Given the description of an element on the screen output the (x, y) to click on. 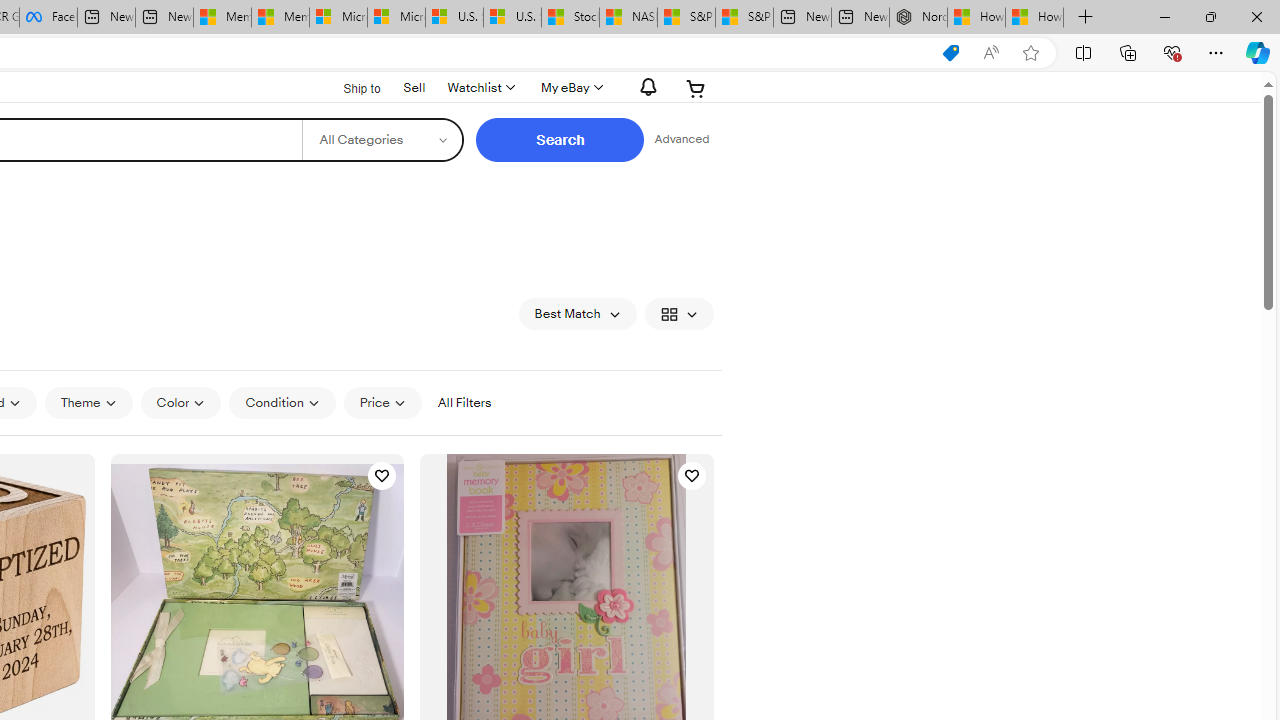
Your shopping cart (696, 88)
Advanced Search (681, 139)
Color (180, 403)
Ship to (349, 86)
All Filters (464, 402)
View: Gallery View (678, 313)
Select a category for search (382, 139)
All Filters (464, 403)
